Given the description of an element on the screen output the (x, y) to click on. 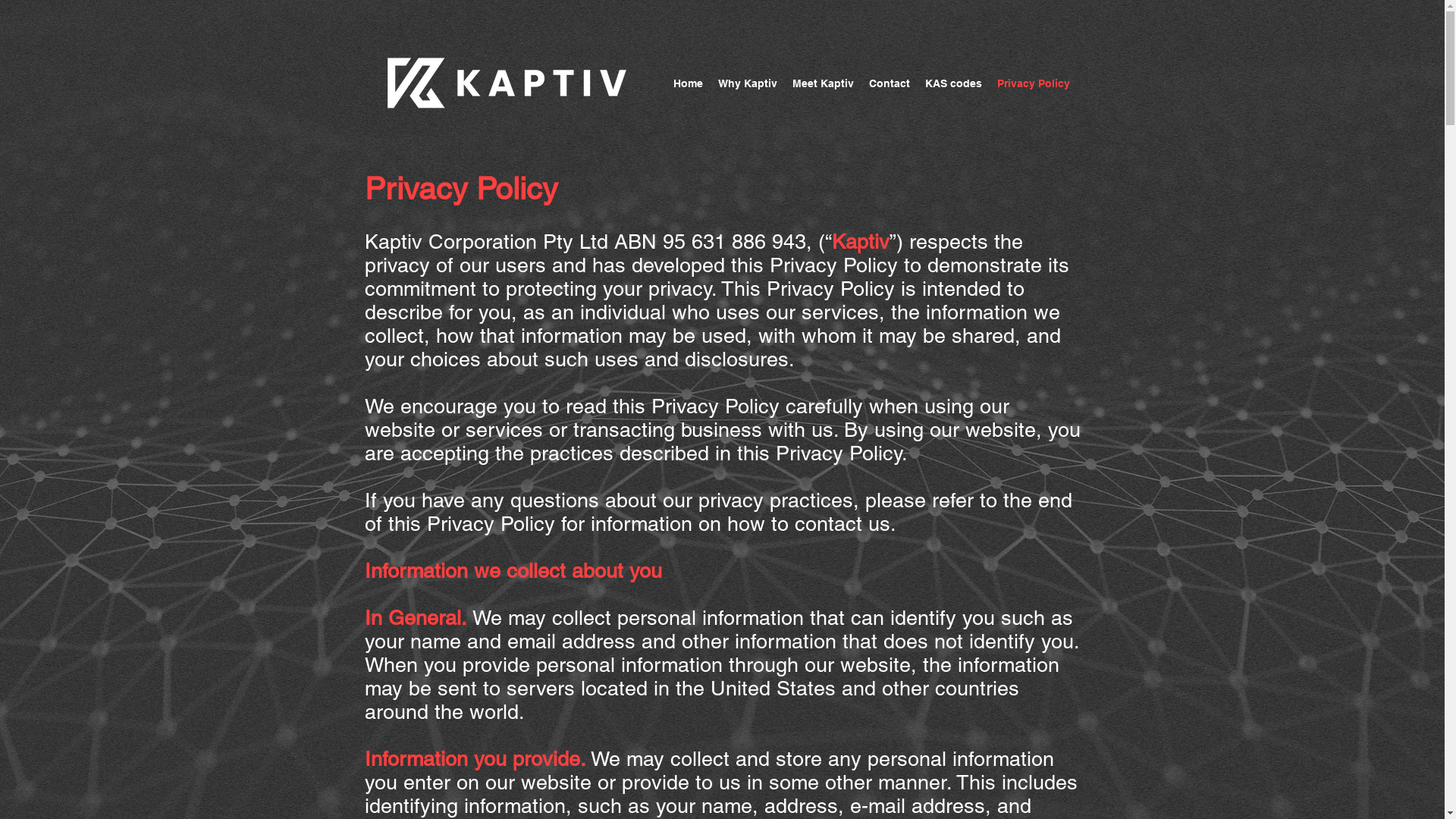
KAS codes Element type: text (953, 83)
Meet Kaptiv Element type: text (822, 83)
Home Element type: text (687, 83)
Contact Element type: text (889, 83)
Why Kaptiv Element type: text (747, 83)
Privacy Policy Element type: text (1033, 83)
